Given the description of an element on the screen output the (x, y) to click on. 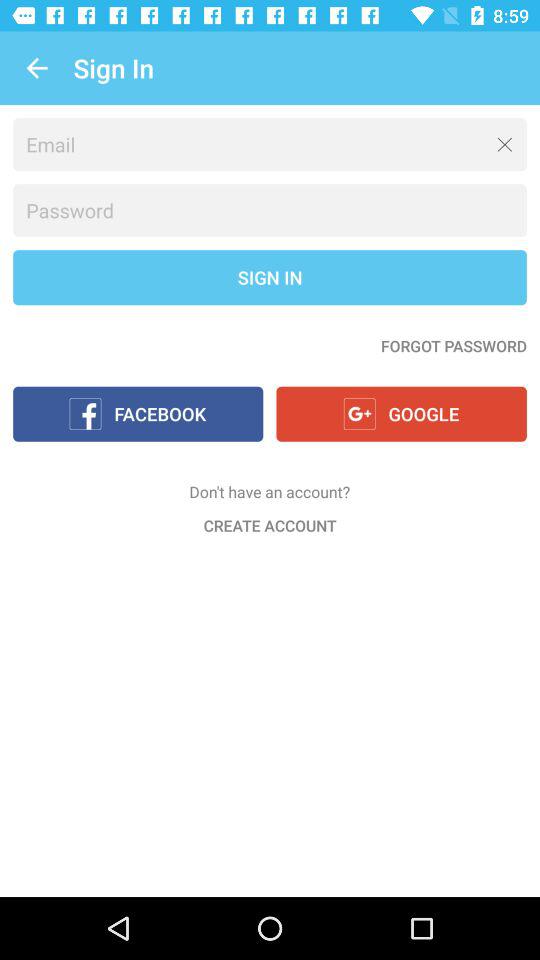
jump until the create account (269, 525)
